Given the description of an element on the screen output the (x, y) to click on. 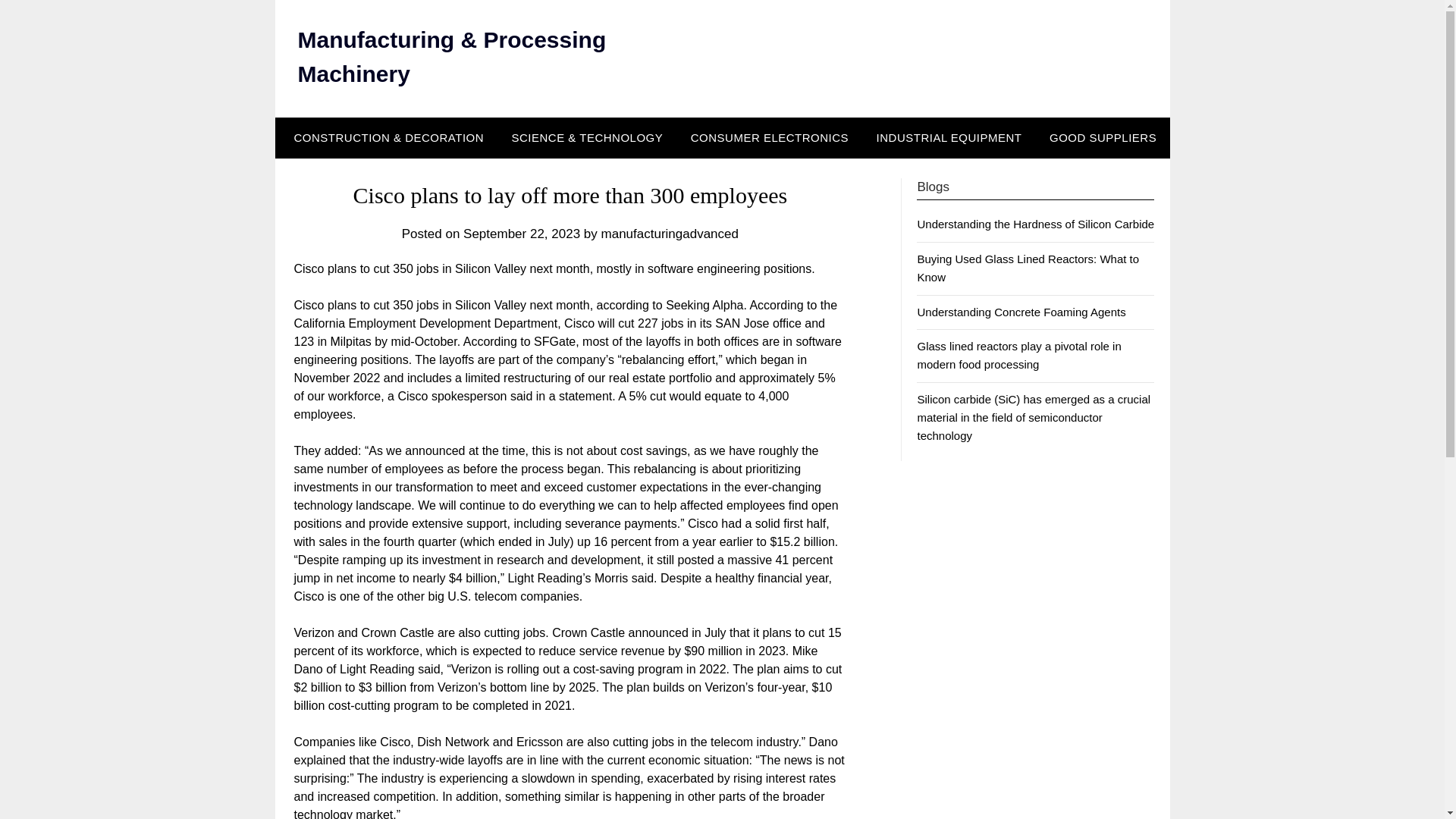
CONSUMER ELECTRONICS (769, 137)
manufacturingadvanced (669, 233)
GOOD SUPPLIERS (1102, 137)
September 22, 2023 (521, 233)
Understanding the Hardness of Silicon Carbide (1035, 223)
Understanding Concrete Foaming Agents (1021, 311)
INDUSTRIAL EQUIPMENT (948, 137)
Buying Used Glass Lined Reactors: What to Know (1027, 267)
